Given the description of an element on the screen output the (x, y) to click on. 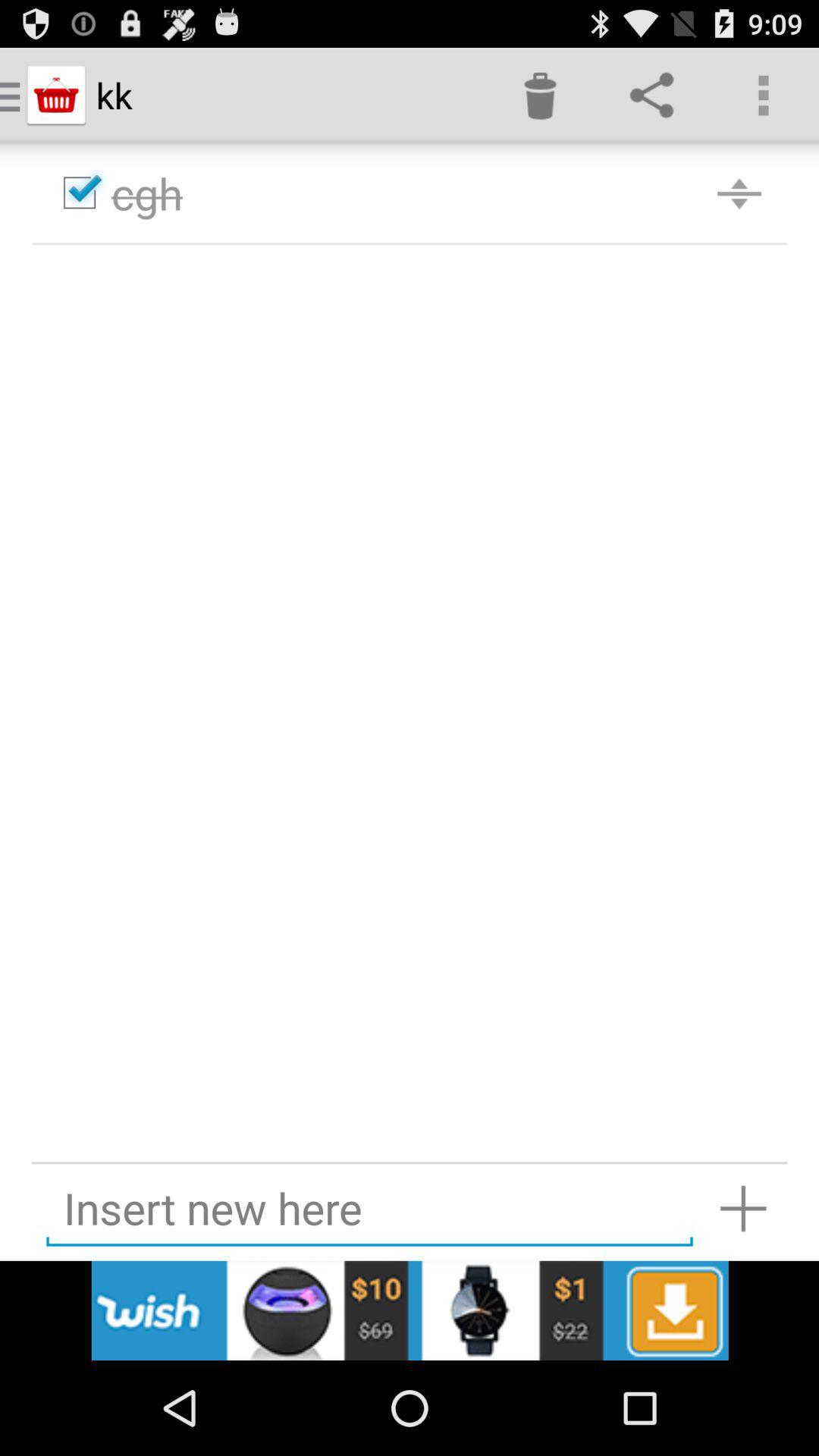
insert new (743, 1208)
